Given the description of an element on the screen output the (x, y) to click on. 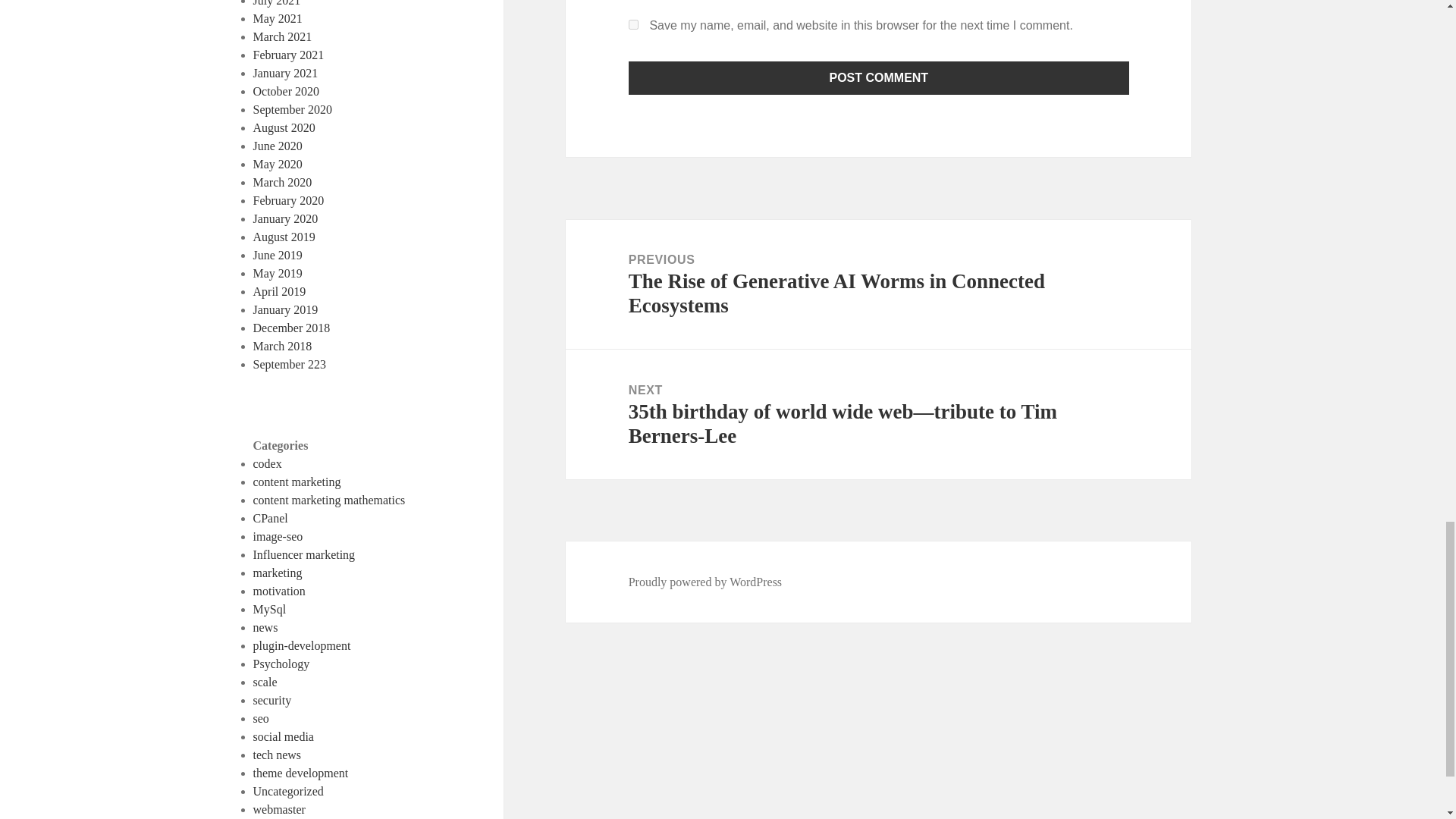
Post Comment (878, 78)
yes (633, 24)
